Given the description of an element on the screen output the (x, y) to click on. 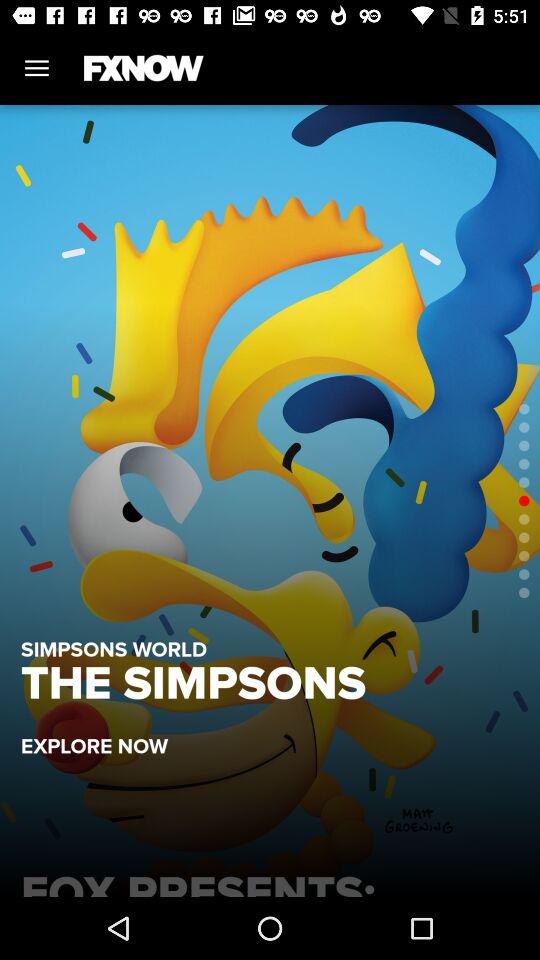
tap item below explore now item (270, 880)
